Given the description of an element on the screen output the (x, y) to click on. 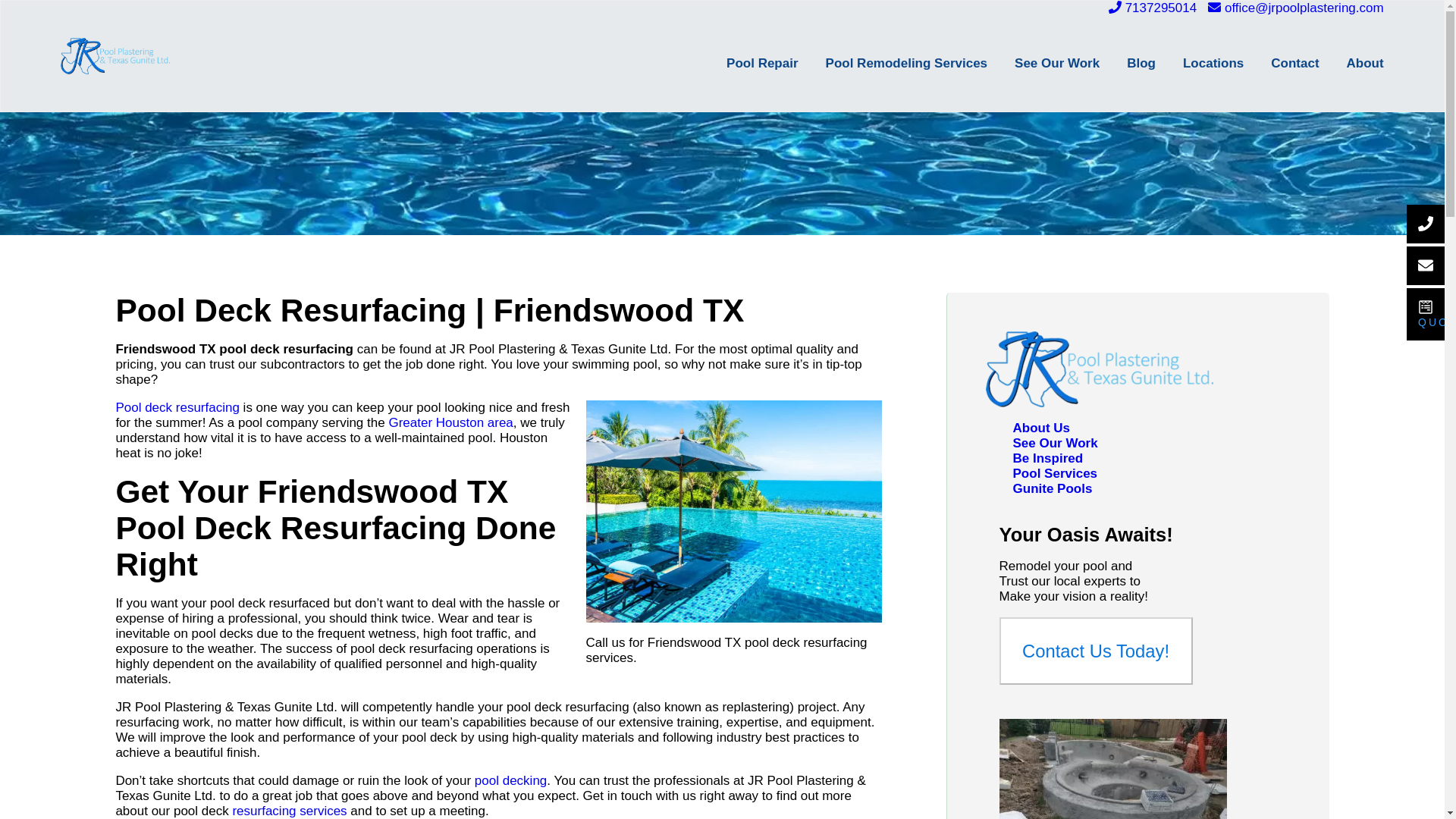
Pool Repair (747, 63)
Pool deck resurfacing (176, 407)
Pool Remodeling Services (892, 63)
Greater Houston area (450, 422)
7137295014 (1152, 7)
Locations (1199, 63)
pool decking (510, 780)
resurfacing services (288, 810)
See Our Work (1043, 63)
